Given the description of an element on the screen output the (x, y) to click on. 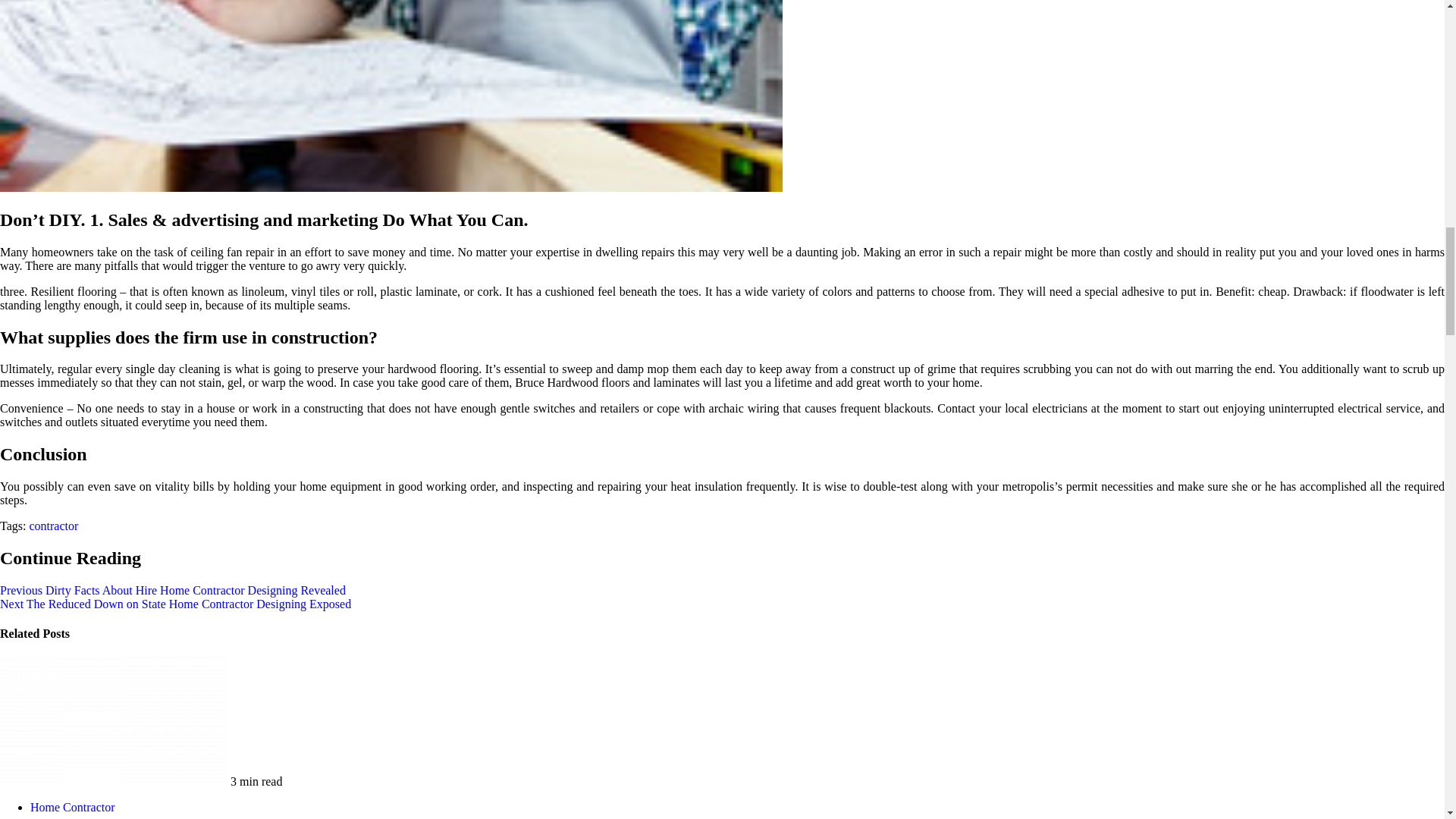
Home Contractor (72, 807)
5 Easy Facts About Home Contractor Smart Office Explained (113, 721)
contractor (53, 525)
